Given the description of an element on the screen output the (x, y) to click on. 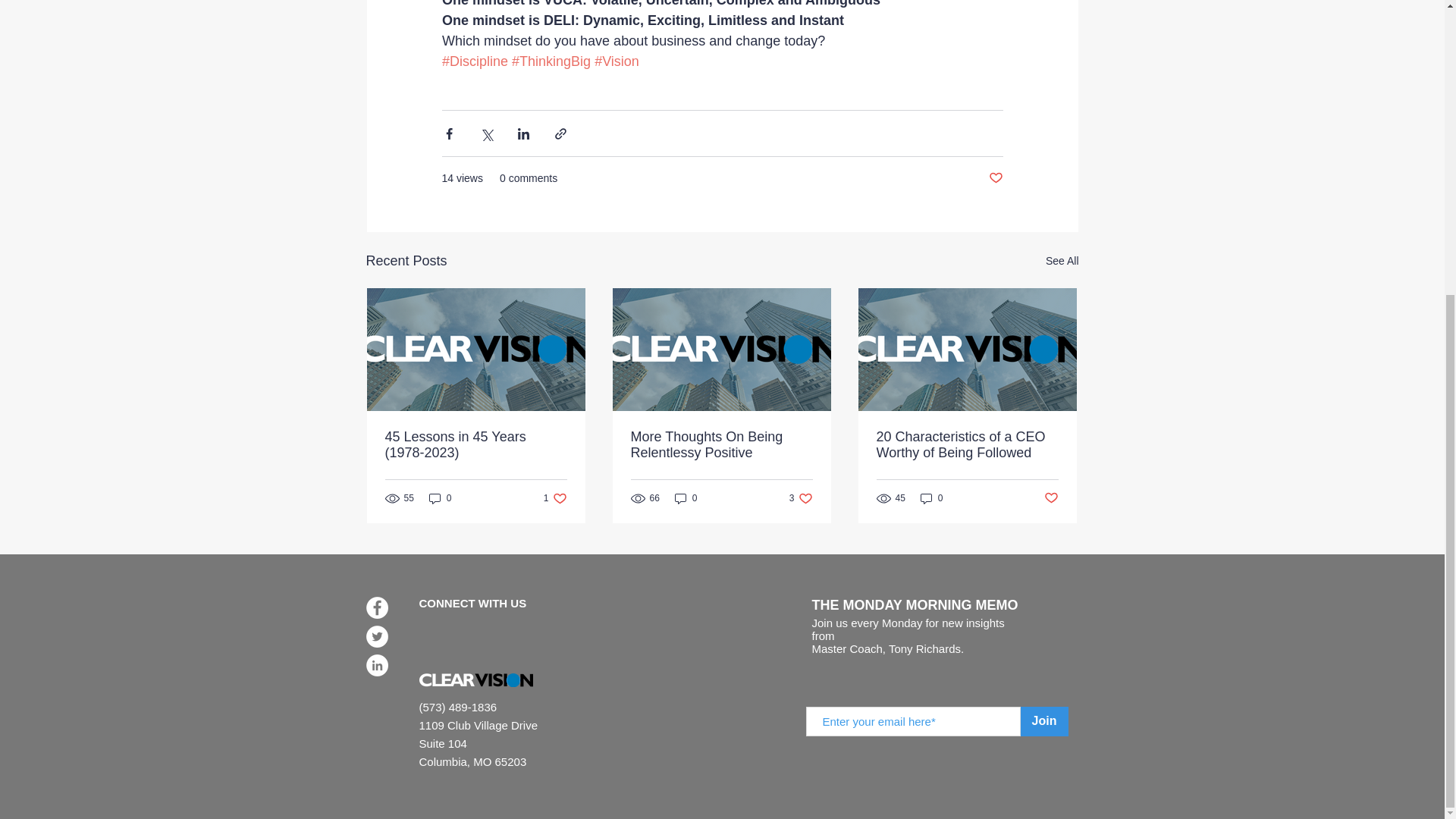
Post not marked as liked (555, 497)
0 (995, 178)
0 (685, 497)
Post not marked as liked (800, 497)
0 (931, 497)
See All (1050, 498)
Join (440, 497)
More Thoughts On Being Relentlessy Positive (1061, 260)
